Given the description of an element on the screen output the (x, y) to click on. 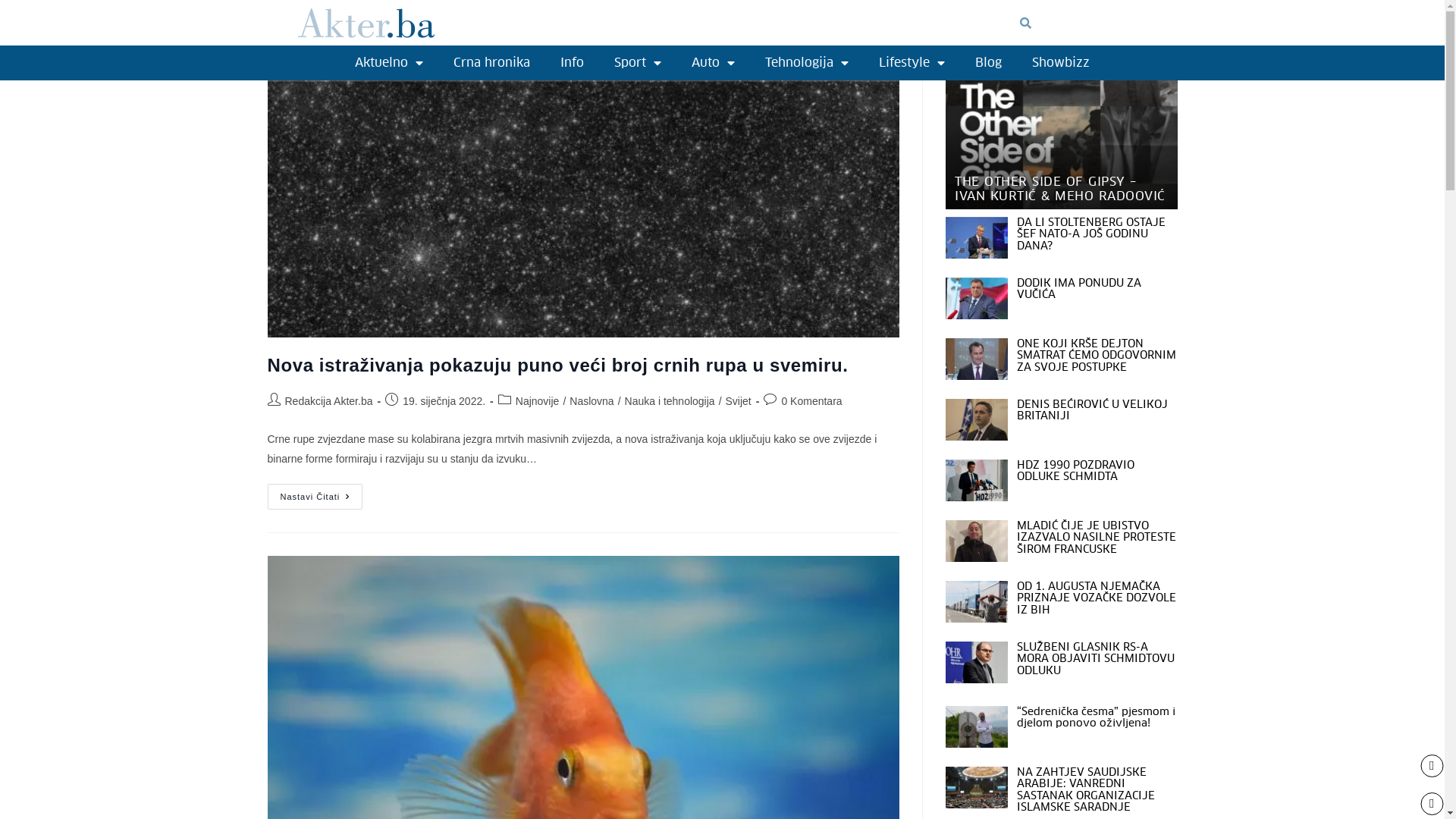
Info Element type: text (572, 62)
Sport Element type: text (637, 62)
Tehnologija Element type: text (806, 62)
Matthew Miller Element type: hover (975, 358)
Redakcija Akter.ba Element type: text (329, 401)
Aktuelno Element type: text (388, 62)
Crna hronika Element type: text (491, 62)
Auto Element type: text (712, 62)
HDZ 1990 POZDRAVIO ODLUKE SCHMIDTA Element type: text (1075, 470)
Showbizz Element type: text (1060, 62)
Becirovic-pisao-UN-u Element type: hover (975, 419)
Glavni tajnik NATO Jens Stoltenberg Element type: hover (975, 237)
Visoki predstavnik u BiH Christian Schmidt Element type: hover (975, 662)
Najnovije Element type: text (537, 401)
HDZ 1990 POZDRAVIO ODLUKE SCHMIDTA Element type: hover (975, 480)
Lifestyle Element type: text (911, 62)
Blog Element type: text (988, 62)
Nauka i tehnologija Element type: text (669, 401)
0 Komentara Element type: text (811, 401)
Search Element type: hover (1085, 22)
Svijet Element type: text (738, 401)
VANREDNI SASTANAK ORGANIZACIJE ISLAMSKE SARADNJE Element type: hover (975, 787)
Naslovna Element type: text (591, 401)
